Given the description of an element on the screen output the (x, y) to click on. 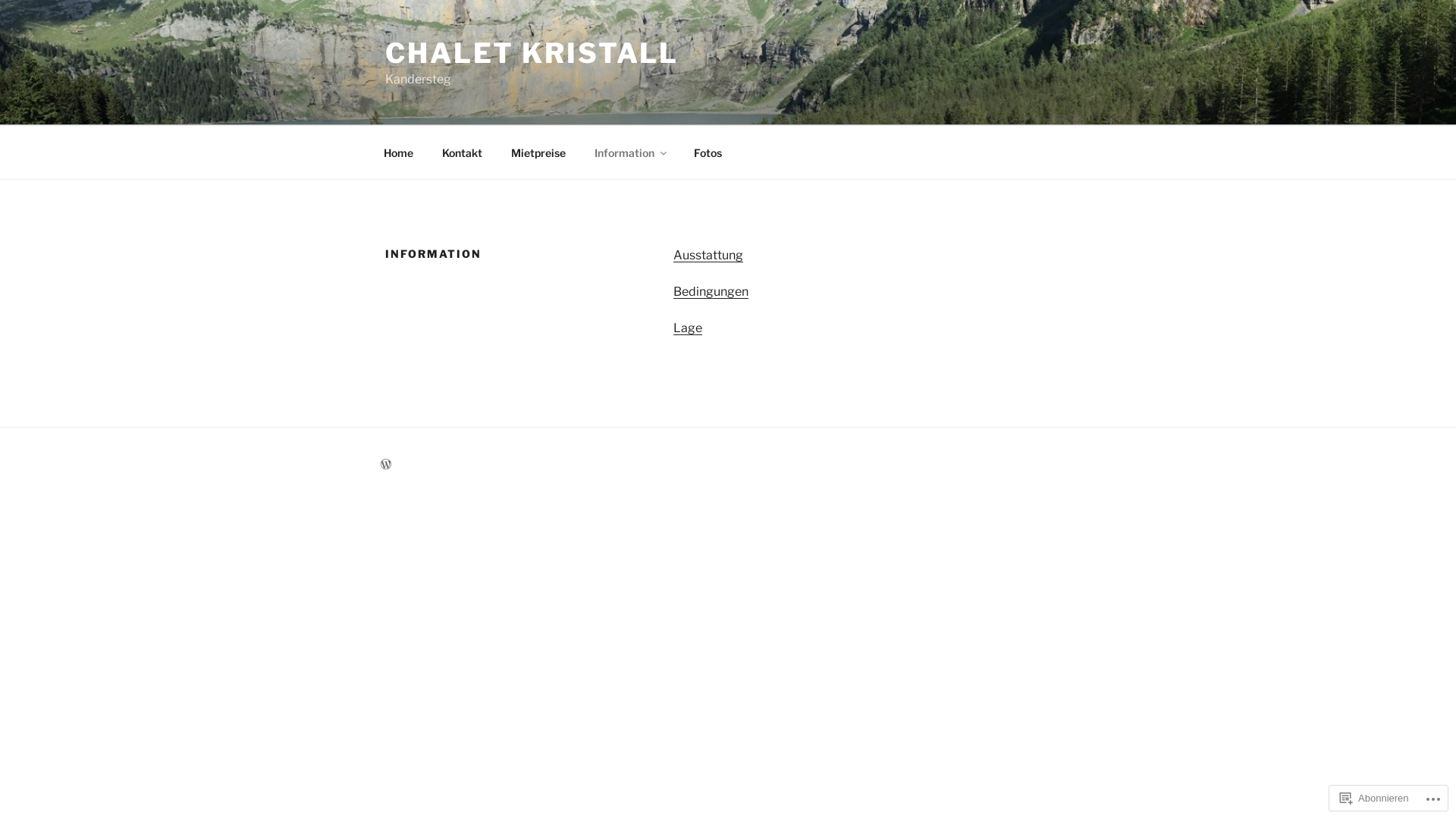
Mietpreise Element type: text (537, 151)
Fotos Element type: text (707, 151)
Kontakt Element type: text (461, 151)
Home Element type: text (398, 151)
Information Element type: text (628, 151)
Ausstattung Element type: text (708, 254)
CHALET KRISTALL Element type: text (531, 52)
Erstelle eine Website oder ein Blog auf WordPress.com Element type: text (385, 464)
Bedingungen Element type: text (710, 291)
Lage Element type: text (687, 327)
Abonnieren Element type: text (1374, 797)
